Given the description of an element on the screen output the (x, y) to click on. 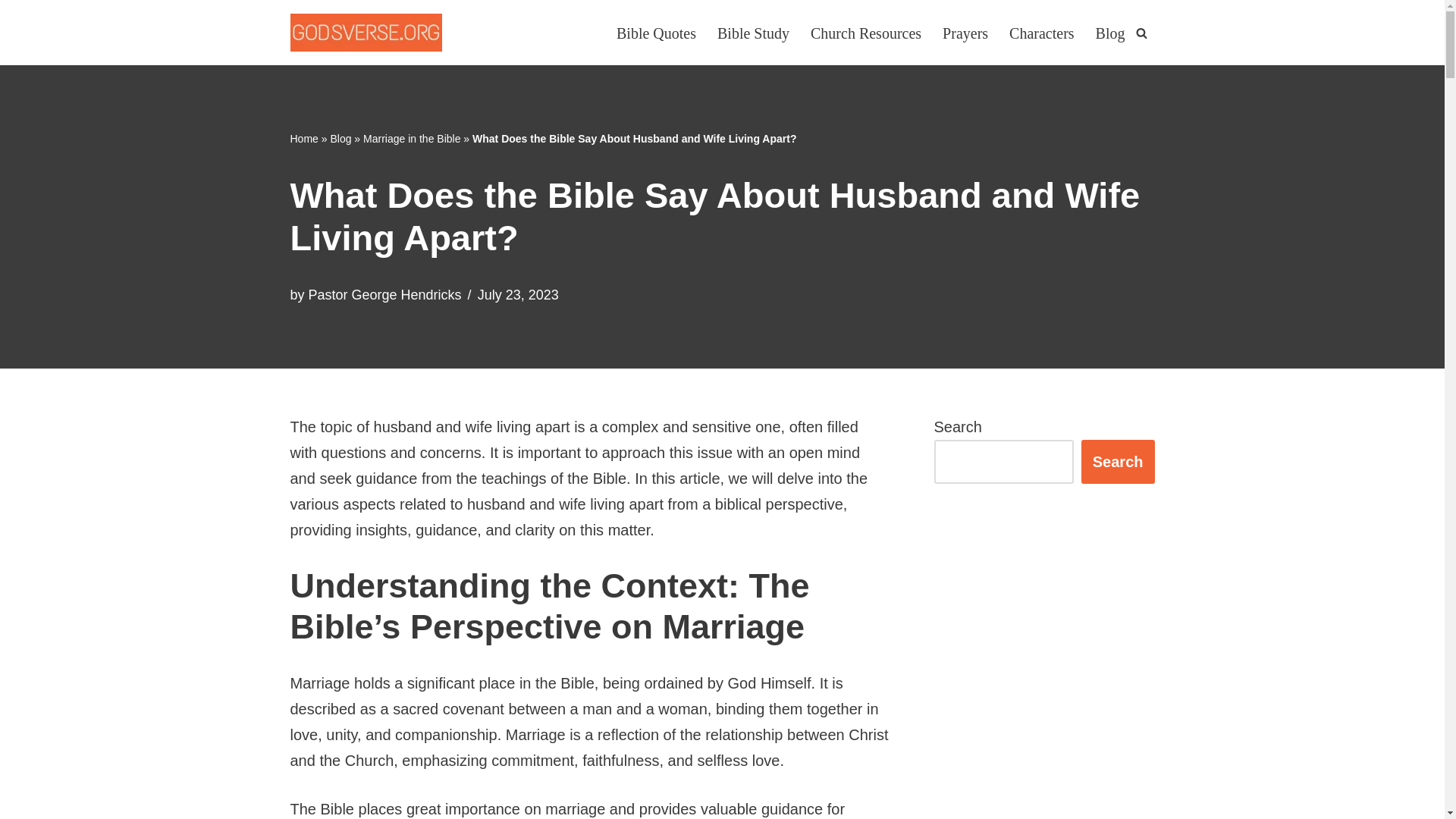
Skip to content (11, 31)
Blog (1110, 32)
Search (1117, 461)
Posts by Pastor George Hendricks (384, 294)
Home (303, 138)
Blog (340, 138)
Characters (1041, 32)
Marriage in the Bible (411, 138)
Pastor George Hendricks (384, 294)
Church Resources (865, 32)
Bible Quotes (655, 32)
Bible Study (753, 32)
Prayers (965, 32)
